Given the description of an element on the screen output the (x, y) to click on. 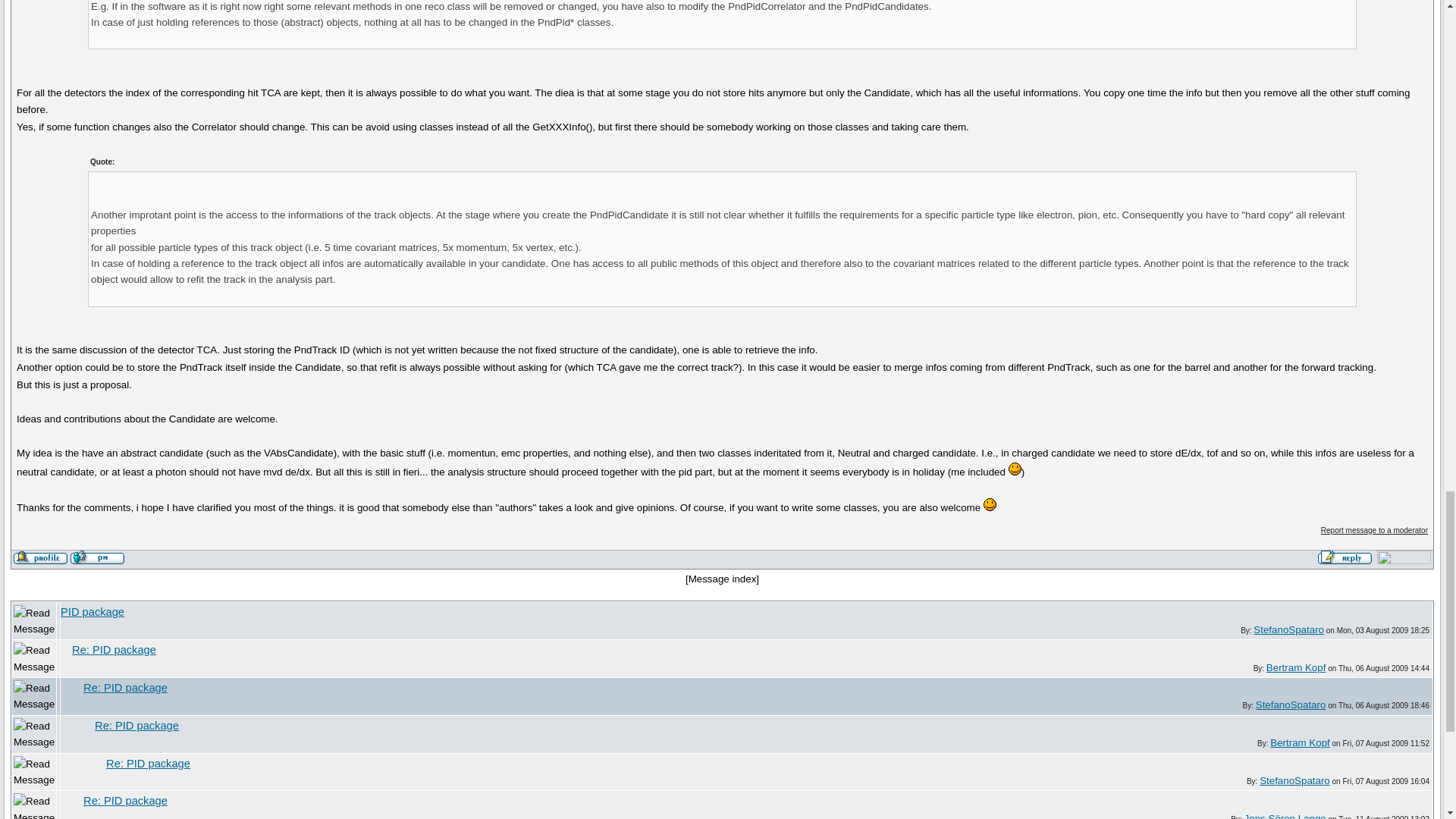
StefanoSpataro (1288, 629)
PID package (92, 612)
Report message to a moderator (1374, 530)
Re: PID package (124, 687)
Send a private message to this user (96, 557)
StefanoSpataro (1290, 704)
View the message list (722, 578)
Message index (722, 578)
Bertram Kopf (1296, 667)
Re: PID package (113, 649)
